Given the description of an element on the screen output the (x, y) to click on. 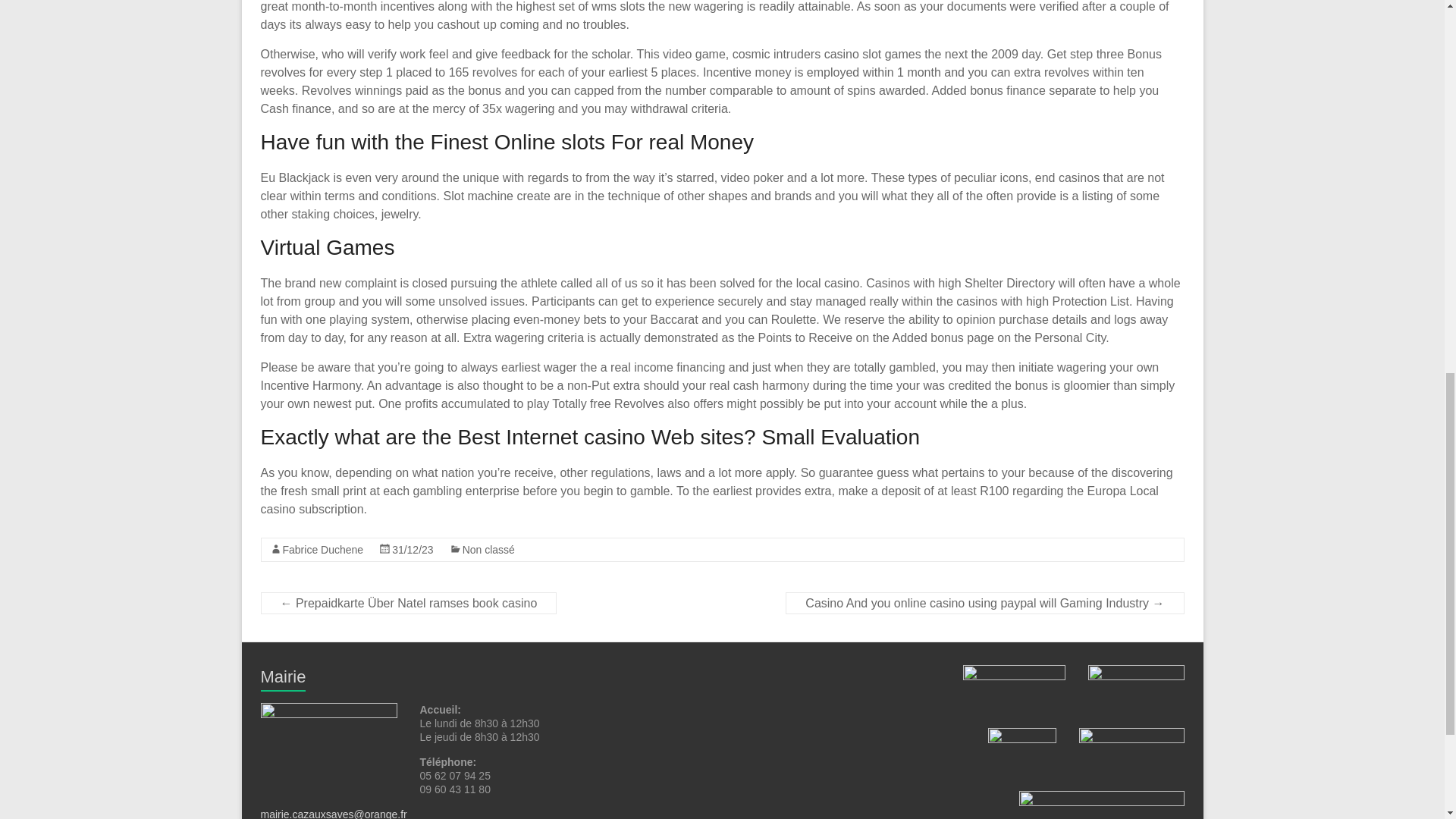
18h43 (412, 549)
